Given the description of an element on the screen output the (x, y) to click on. 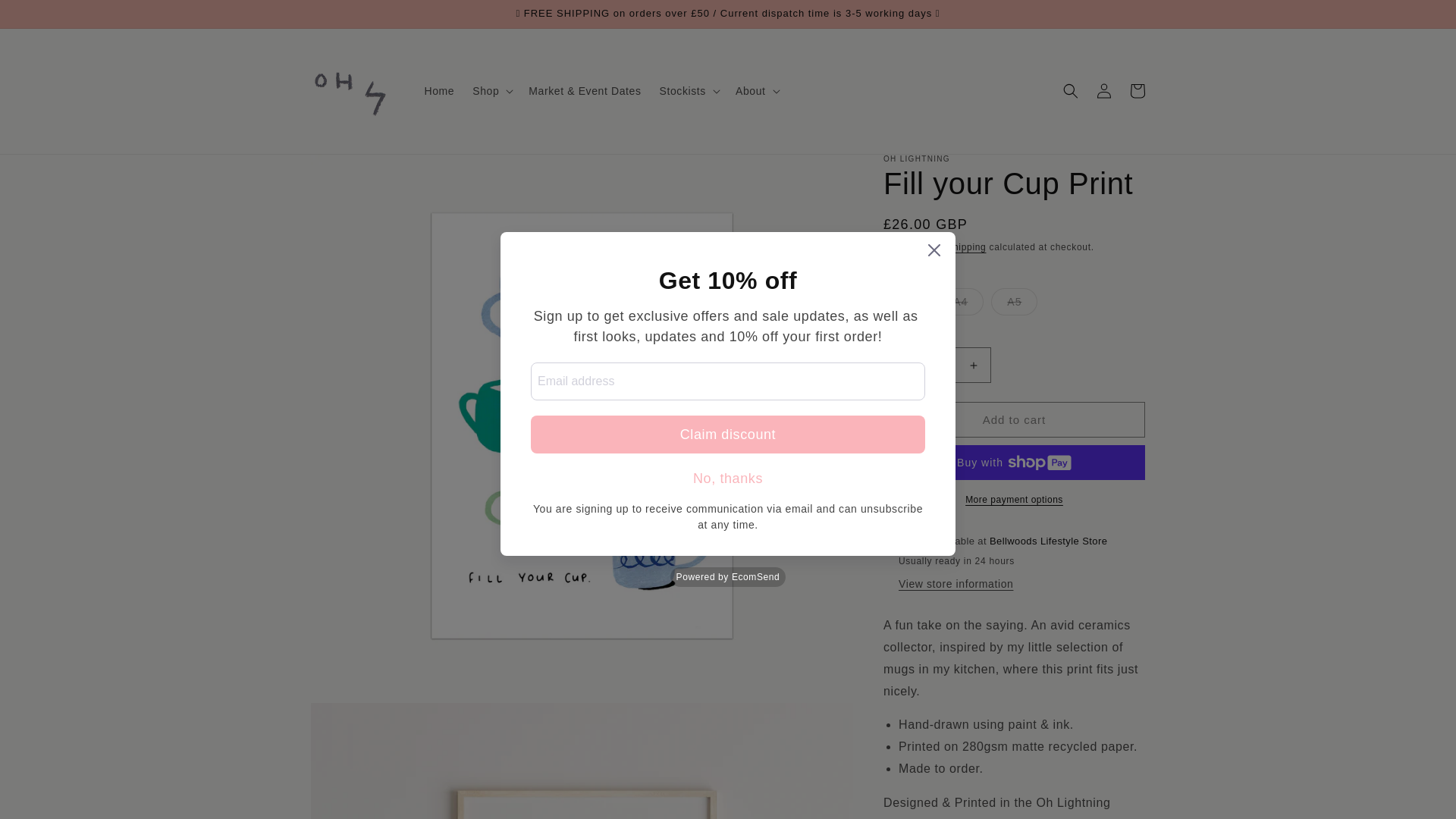
Log in (1104, 90)
Home (439, 91)
1 (937, 365)
Skip to product information (356, 171)
Skip to content (45, 17)
Cart (1137, 90)
